Given the description of an element on the screen output the (x, y) to click on. 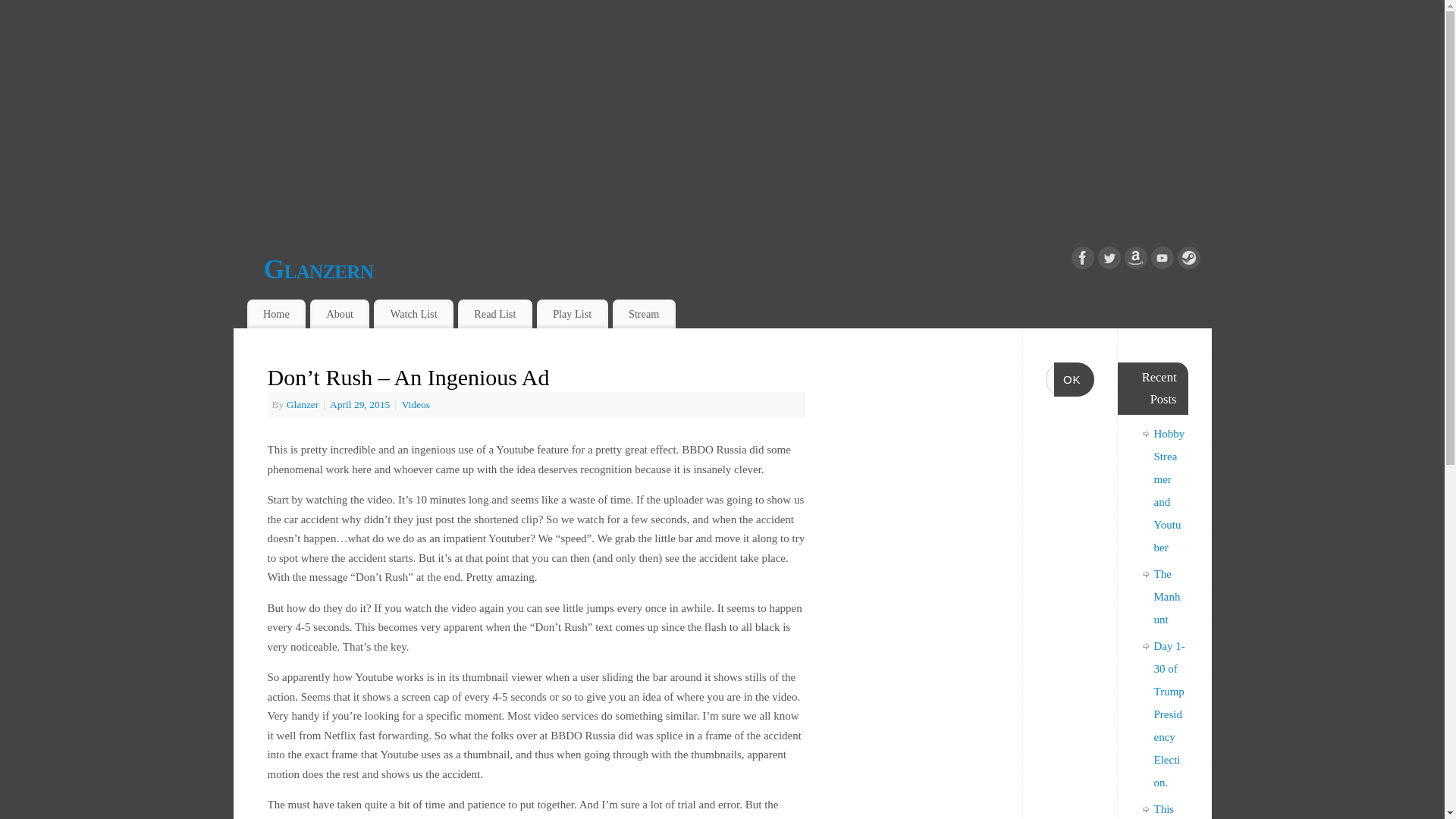
Hobby Streamer and Youtuber (1169, 490)
Glanzern (737, 269)
YouTube (1162, 261)
Videos (415, 404)
About (339, 313)
Facebook (1081, 261)
April 29, 2015 (361, 404)
Glanzern (737, 269)
Glanzer (302, 404)
Amazon (1135, 261)
2:25 pm (361, 404)
Steam (1187, 261)
Day 1-30 of Trump Presidency Election. (1169, 713)
View all posts by Glanzer (302, 404)
